Given the description of an element on the screen output the (x, y) to click on. 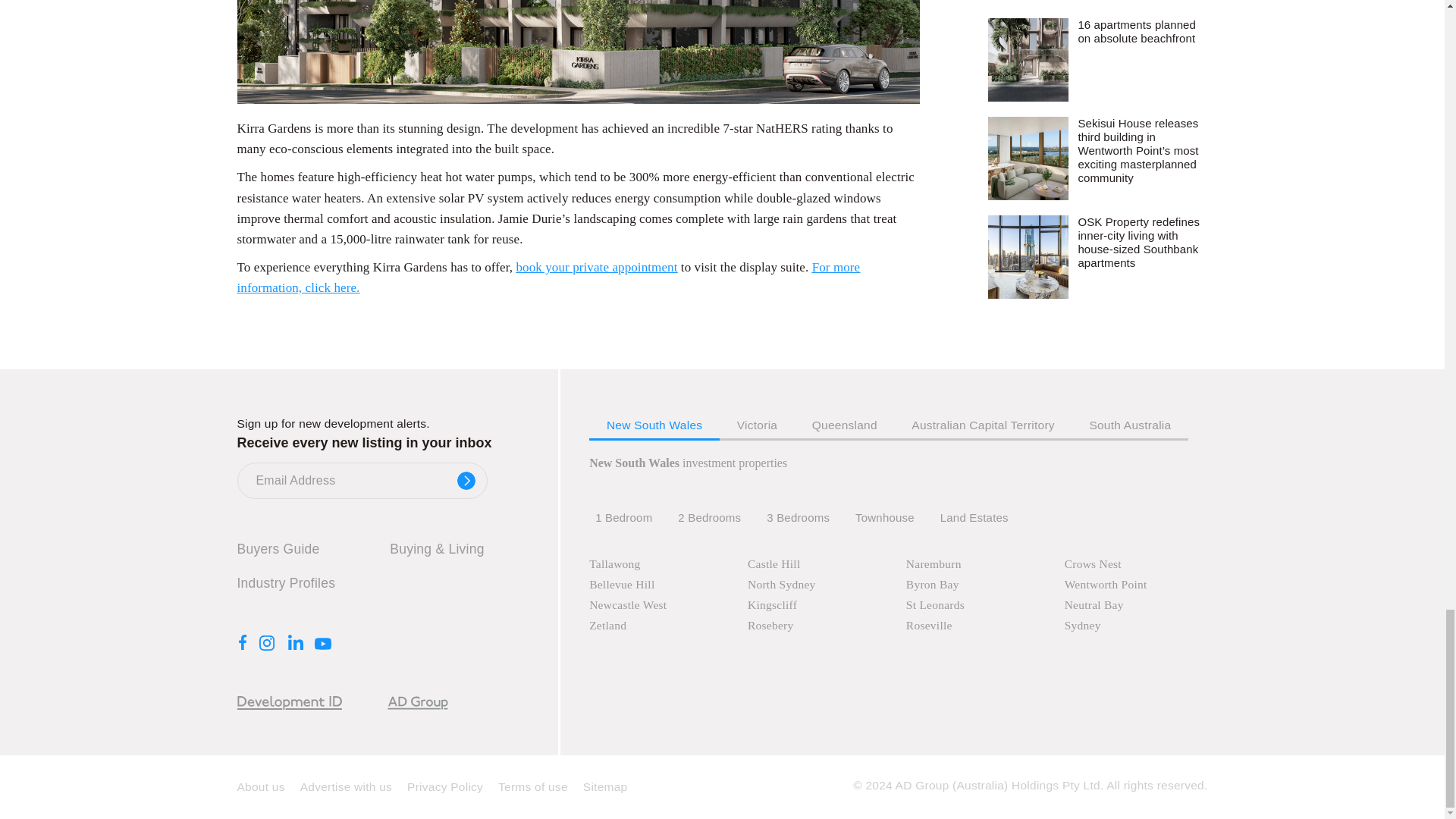
For more information, click here. (547, 277)
book your private appointment (596, 267)
